Given the description of an element on the screen output the (x, y) to click on. 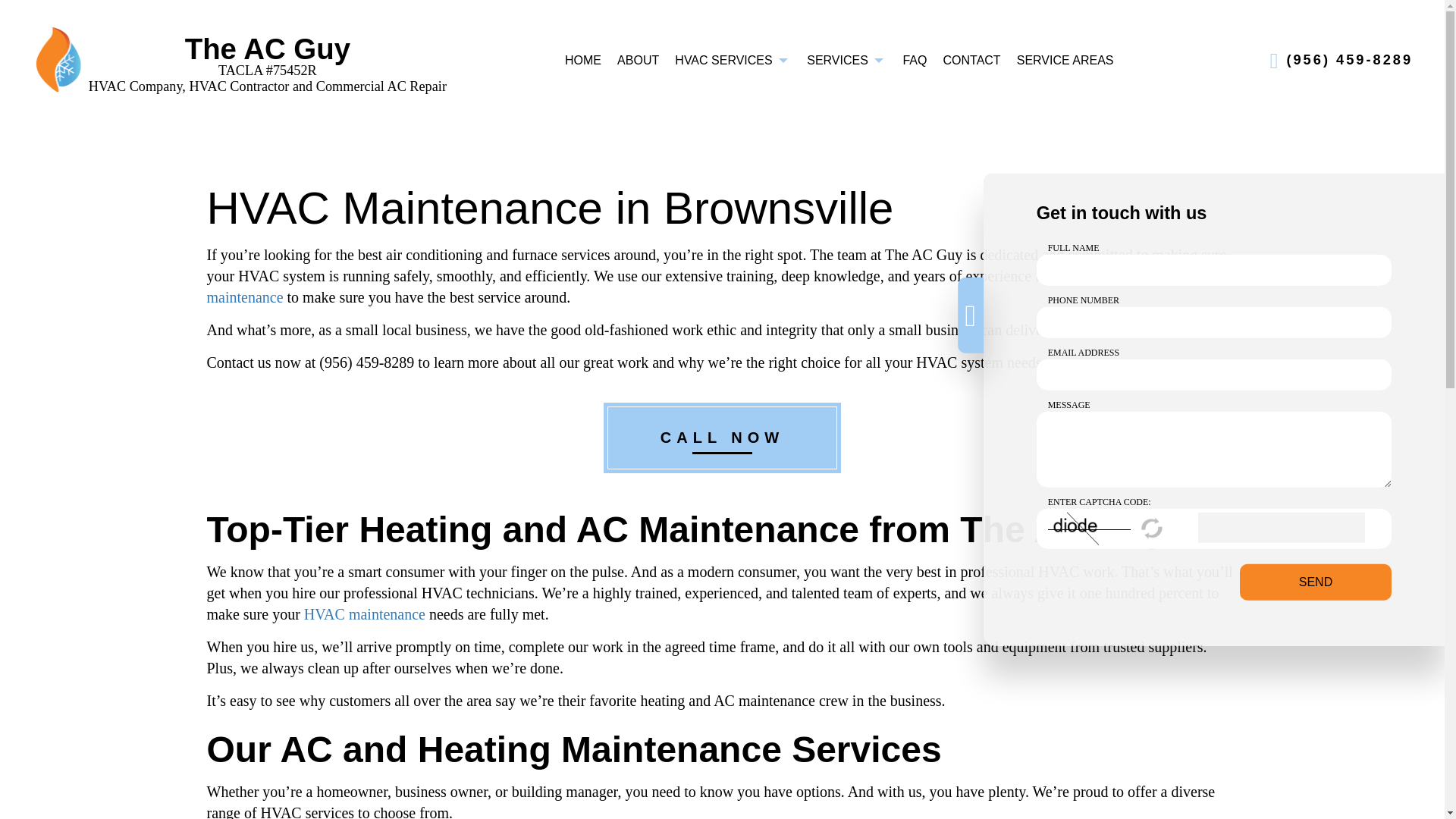
Phone Number (1213, 322)
Refresh Captcha (1152, 528)
back to The AC Guy home page (267, 49)
Full Name (1213, 269)
Email Address (1213, 374)
The AC Guy (58, 58)
Enter your message (1213, 449)
Enter Captcha (1281, 527)
